Given the description of an element on the screen output the (x, y) to click on. 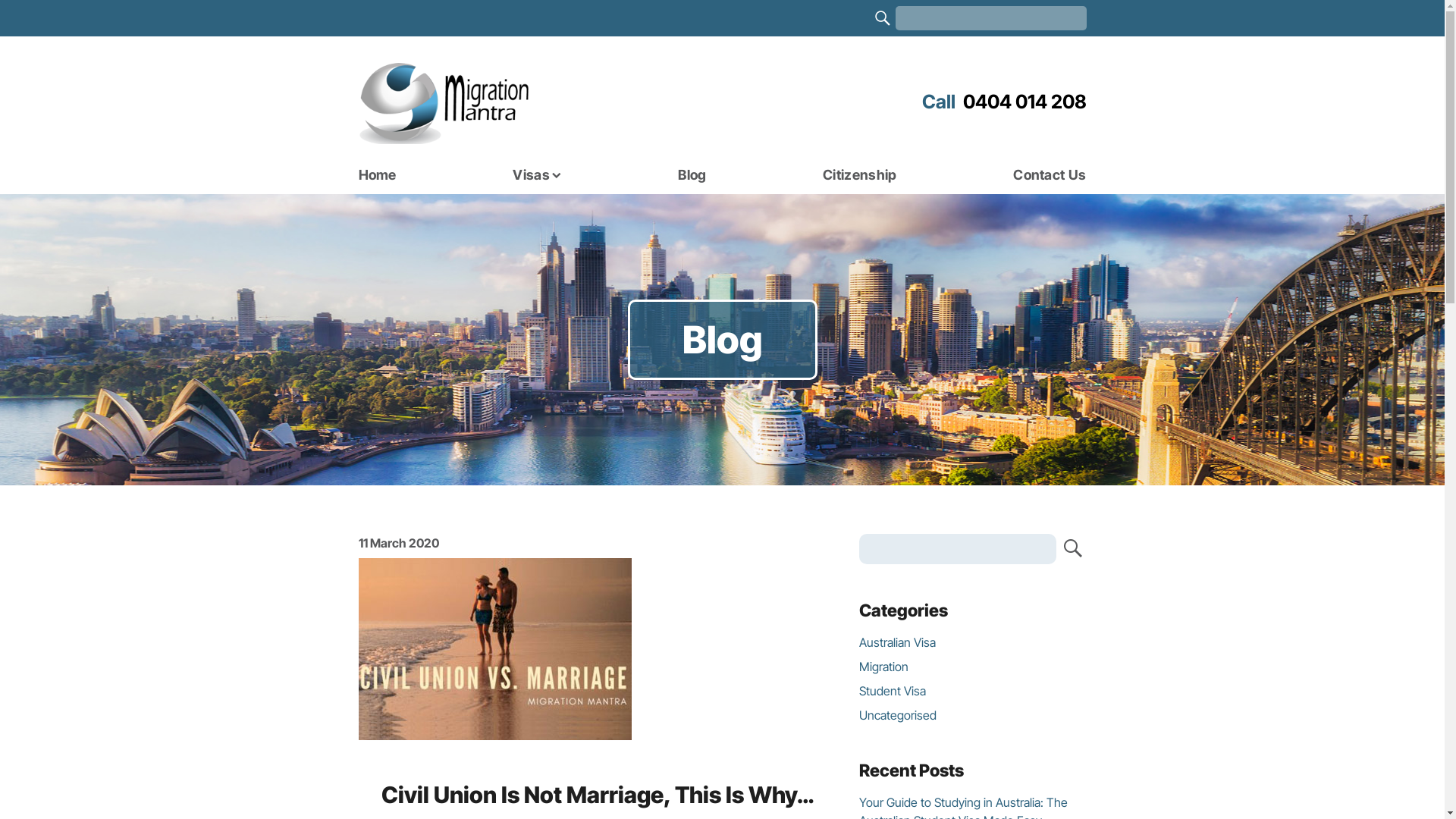
Citizenship Element type: text (859, 175)
Search Element type: hover (1070, 548)
Visas Element type: text (536, 175)
Contact Us Element type: text (1049, 175)
Home Element type: text (376, 175)
11 March 2020 Element type: text (397, 542)
Migration Element type: text (882, 666)
Blog Element type: text (691, 175)
Australian Visa Element type: text (896, 641)
Student Visa Element type: text (891, 690)
0404 014 208 Element type: text (1004, 101)
Uncategorised Element type: text (896, 714)
Search Element type: hover (883, 18)
